Given the description of an element on the screen output the (x, y) to click on. 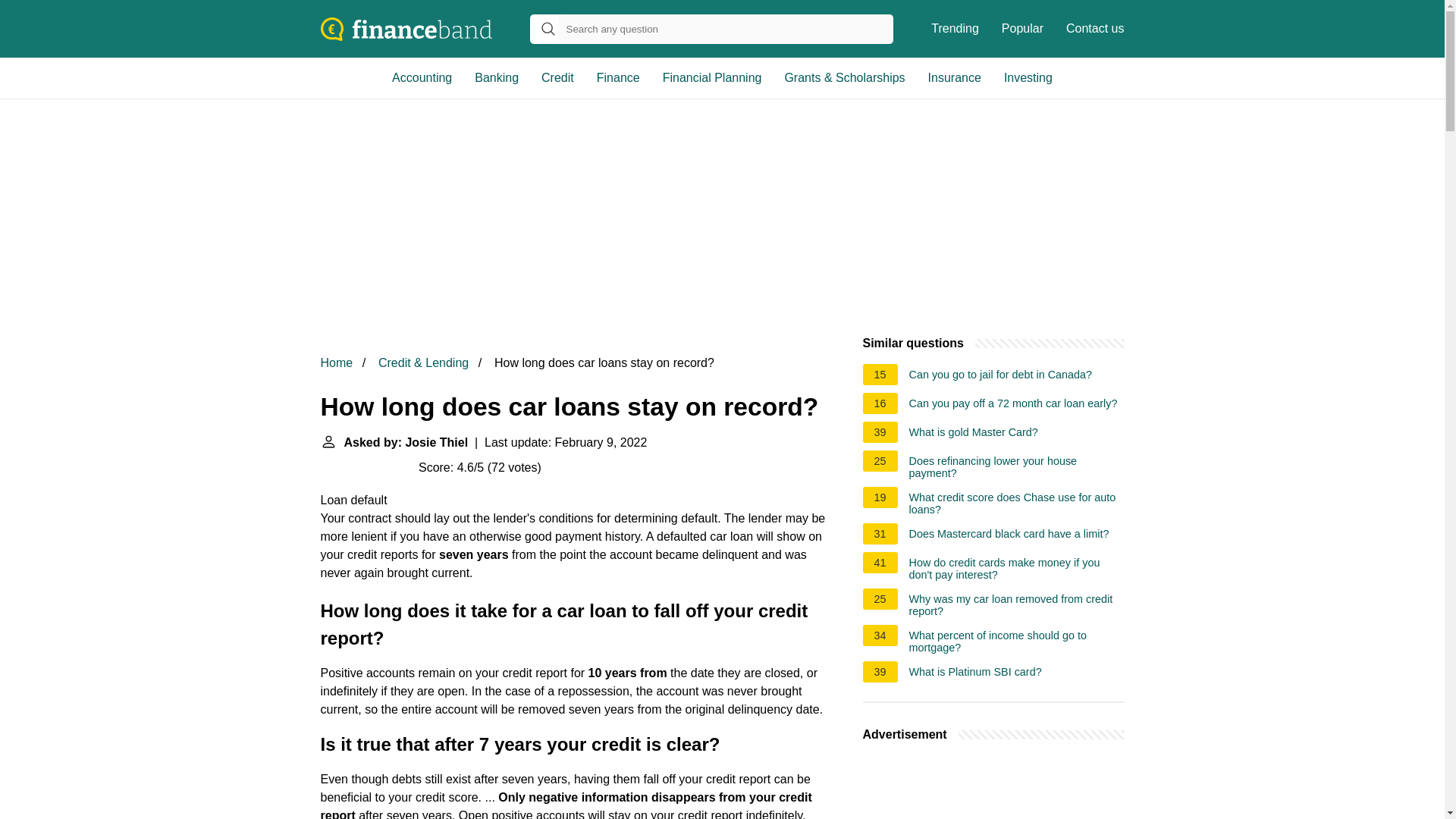
Can you go to jail for debt in Canada? (1000, 376)
Insurance (954, 77)
Why was my car loan removed from credit report? (1016, 604)
What credit score does Chase use for auto loans? (1016, 503)
Can you pay off a 72 month car loan early? (1013, 405)
Contact us (1094, 28)
Accounting (421, 77)
What is Platinum SBI card? (975, 673)
How do credit cards make money if you don't pay interest? (1016, 568)
Popular (1022, 28)
Finance (617, 77)
Does Mastercard black card have a limit? (1008, 535)
What is gold Master Card? (973, 434)
Home (336, 362)
Credit (557, 77)
